Given the description of an element on the screen output the (x, y) to click on. 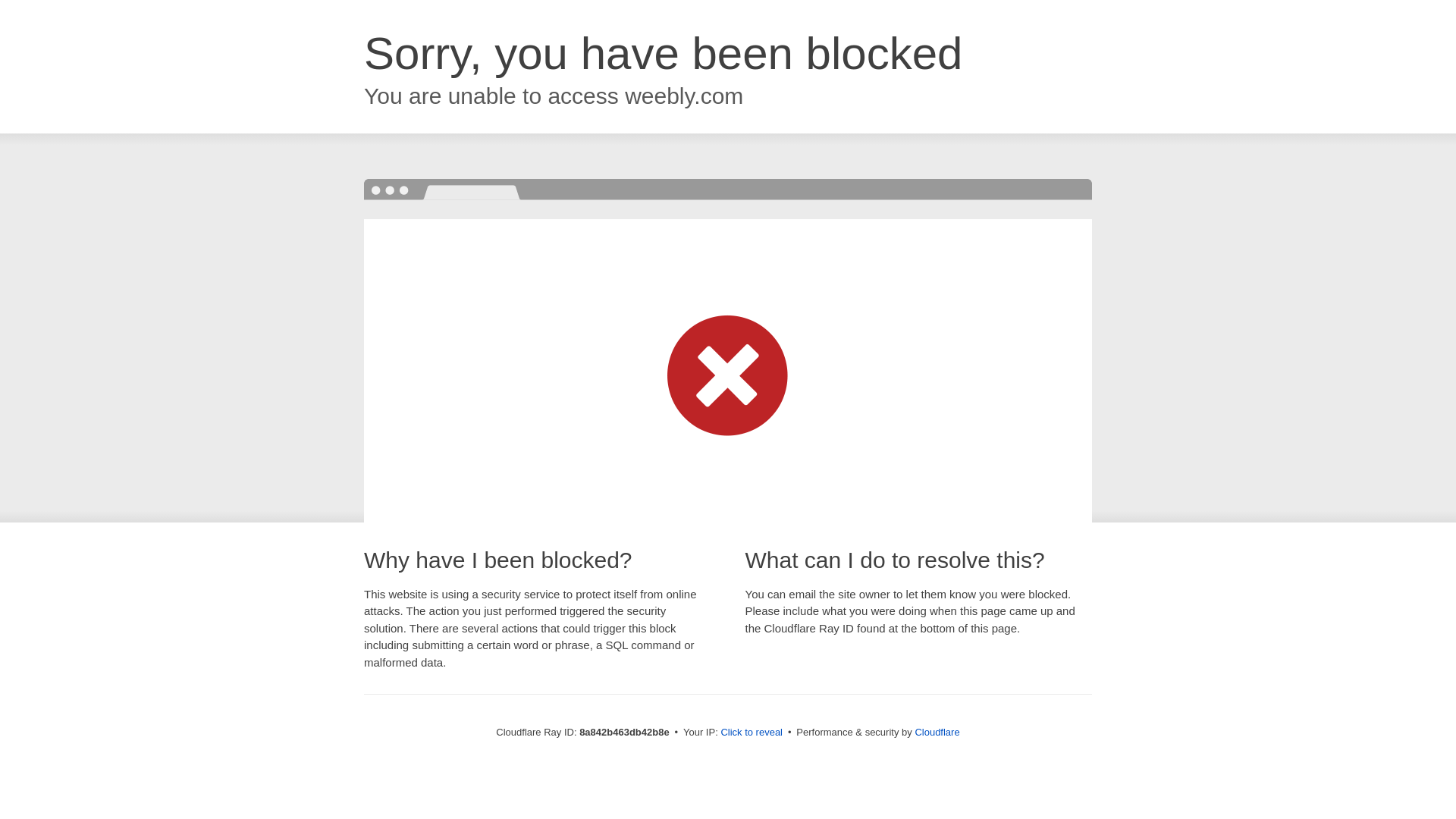
Click to reveal (751, 732)
Cloudflare (936, 731)
